Given the description of an element on the screen output the (x, y) to click on. 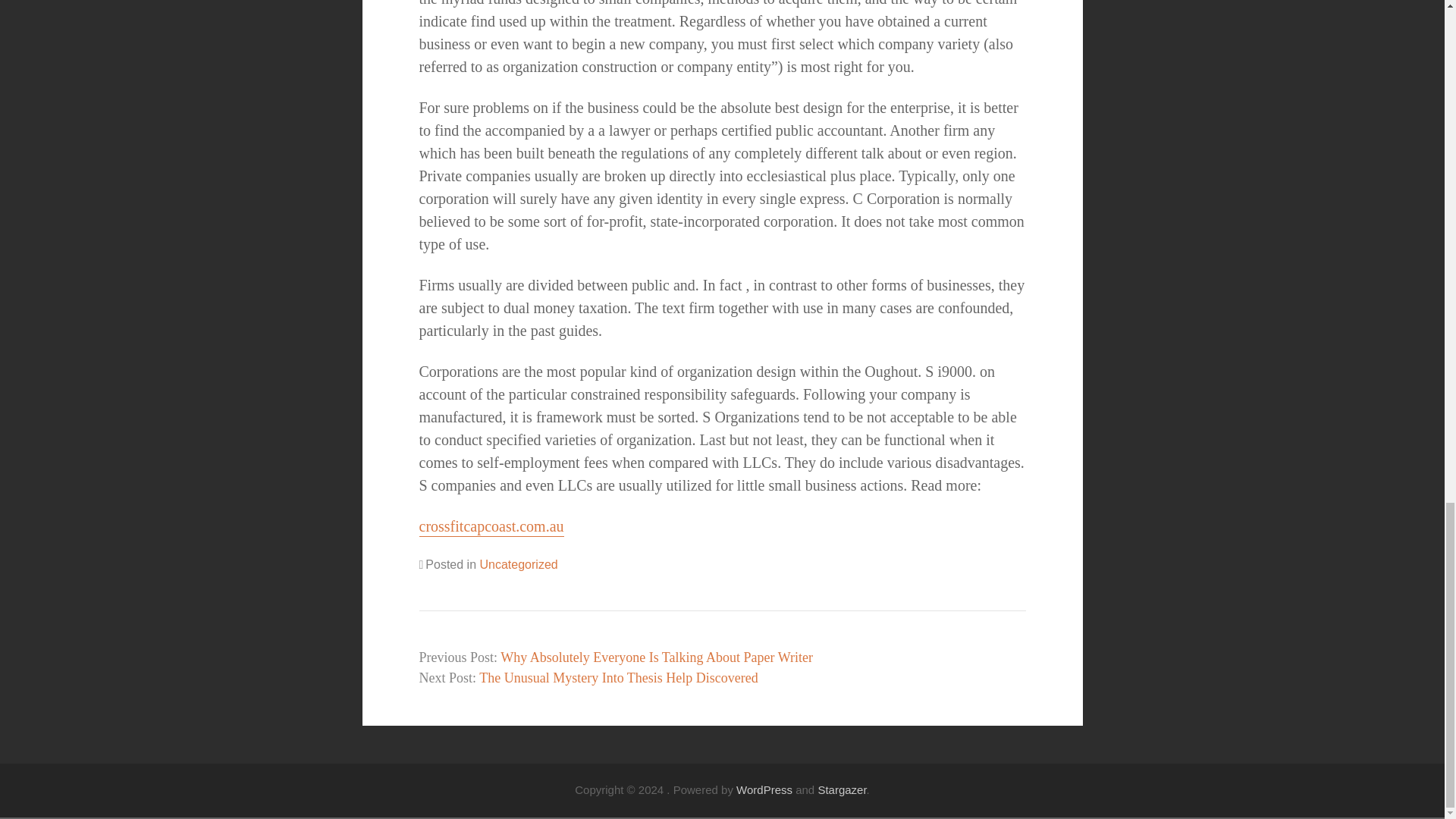
Uncategorized (518, 563)
WordPress (764, 789)
Why Absolutely Everyone Is Talking About Paper Writer (656, 657)
crossfitcapcoast.com.au (491, 527)
Stargazer (841, 789)
State-of-the-art semantic personal publishing platform (764, 789)
The Unusual Mystery Into Thesis Help Discovered (618, 677)
Stargazer WordPress Theme (841, 789)
